Given the description of an element on the screen output the (x, y) to click on. 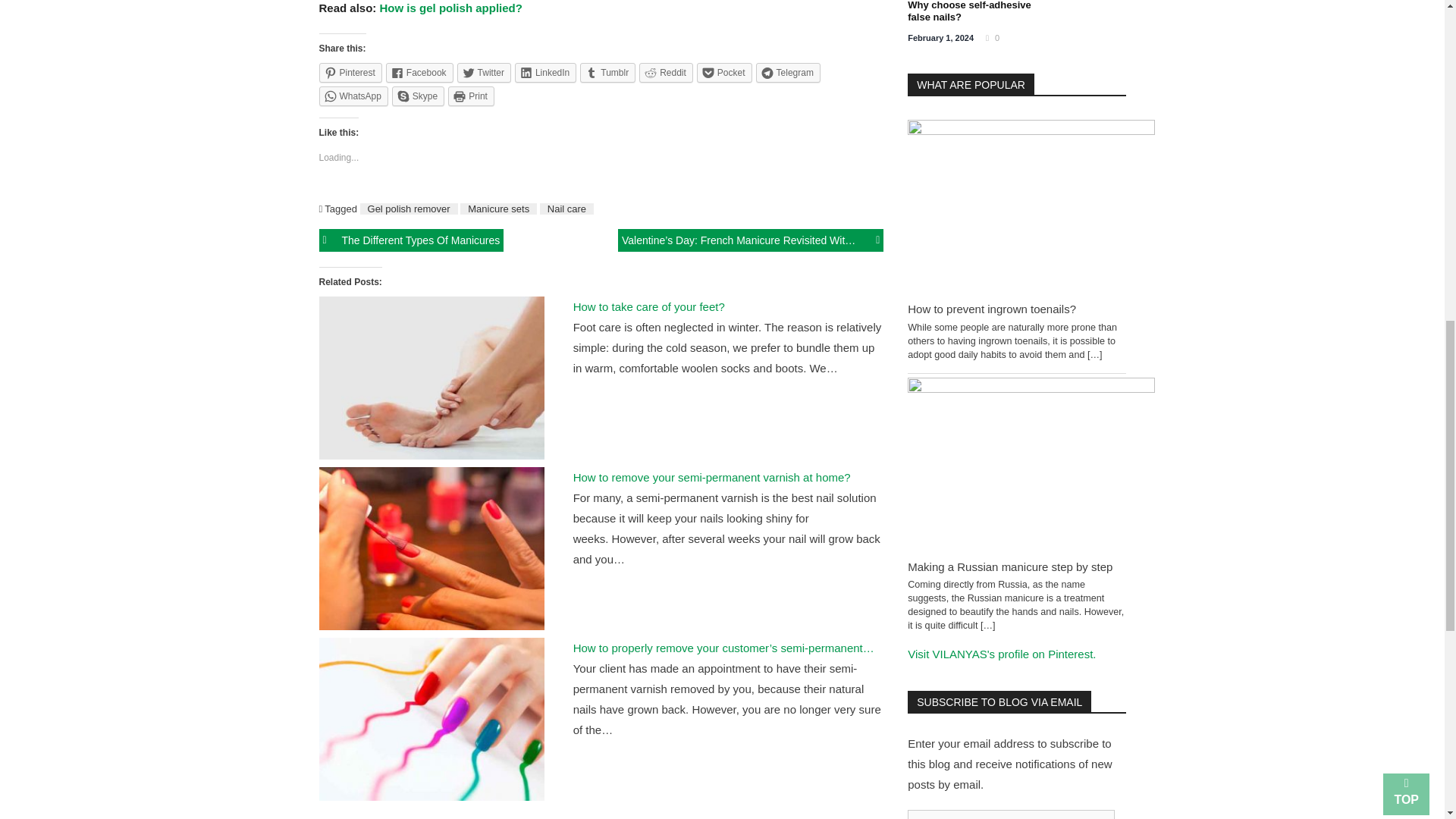
Click to share on Pocket (724, 72)
Skype (417, 96)
Pinterest (349, 72)
Click to share on Reddit (666, 72)
Click to share on Tumblr (606, 72)
Click to share on Facebook (418, 72)
How to take care of your feet? (431, 381)
Click to share on WhatsApp (352, 96)
Gel polish remover (408, 208)
Click to share on Twitter (484, 72)
